Given the description of an element on the screen output the (x, y) to click on. 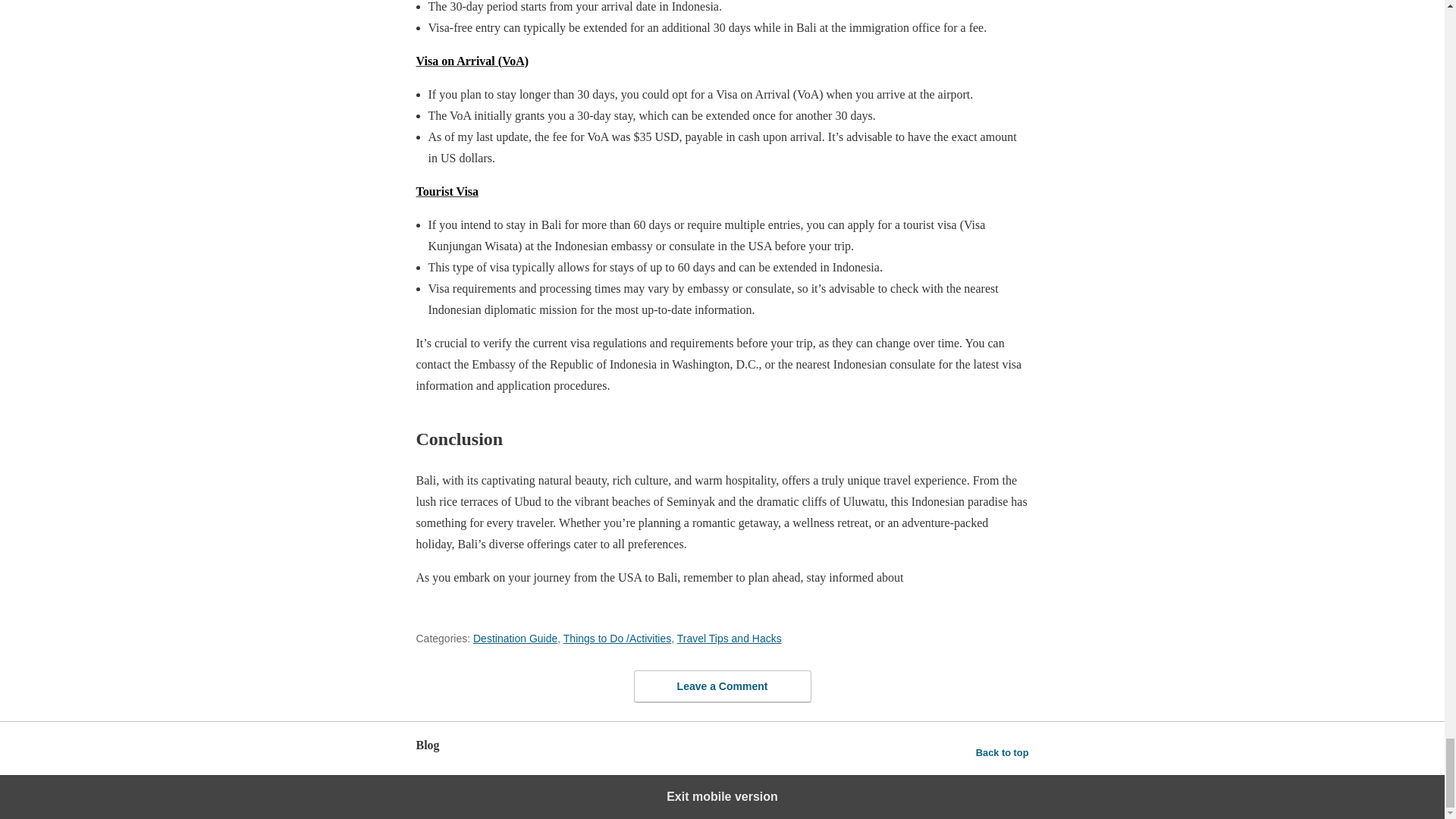
Leave a Comment (721, 686)
Destination Guide (515, 638)
Travel Tips and Hacks (729, 638)
Back to top (1002, 752)
